Given the description of an element on the screen output the (x, y) to click on. 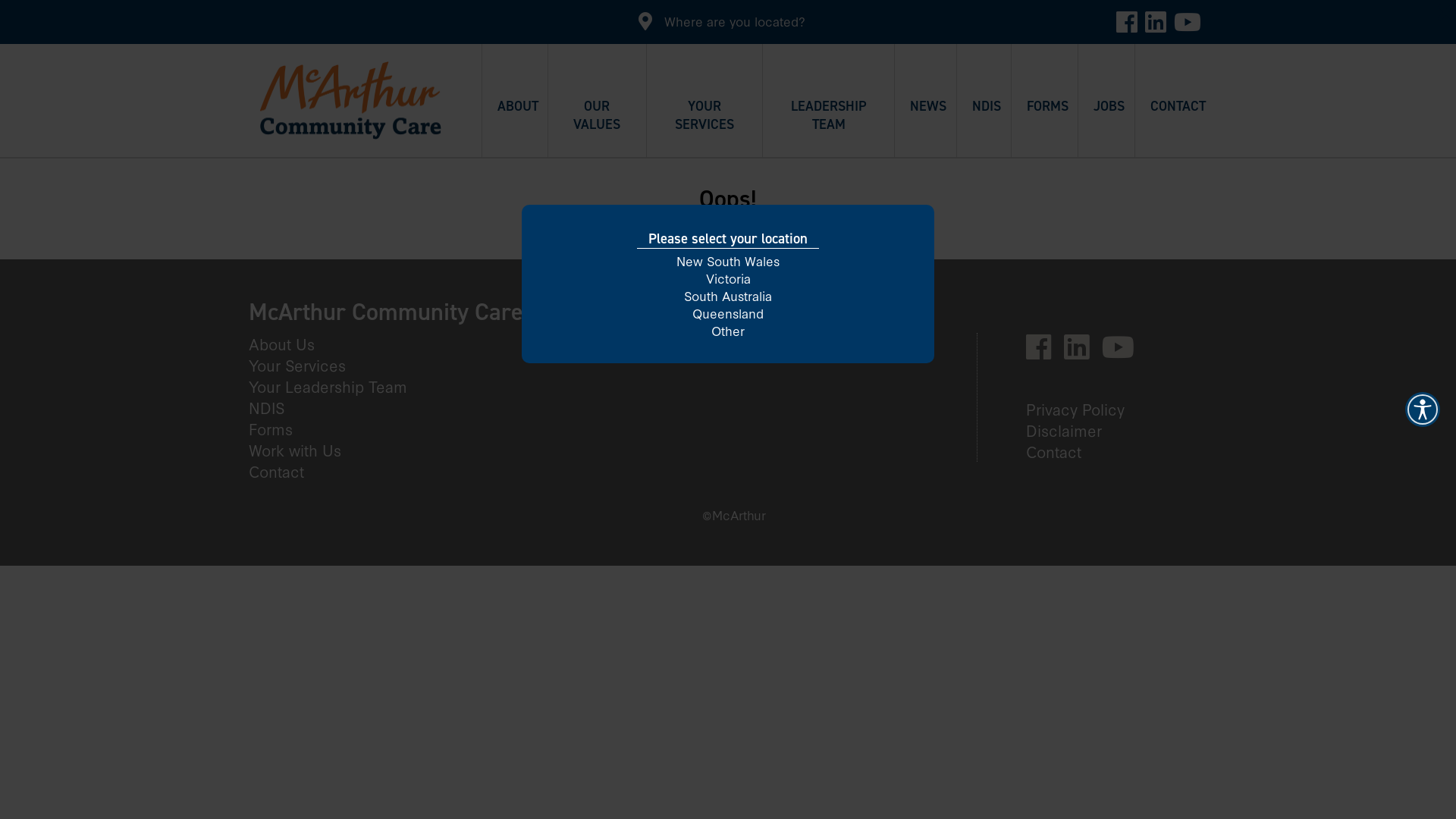
About Us Element type: text (287, 343)
Facebook Element type: hover (1044, 350)
ABOUT Element type: text (514, 126)
Disclaimer Element type: text (1069, 429)
Forms Element type: text (276, 428)
JOBS Element type: text (1106, 126)
Contact Element type: text (282, 470)
NDIS Element type: text (983, 126)
YouTube Element type: hover (1123, 350)
Your Services Element type: text (302, 364)
OUR VALUES Element type: text (597, 126)
Contact Element type: text (1059, 450)
YOUR SERVICES Element type: text (704, 126)
Privacy Policy Element type: text (1081, 408)
Work with Us Element type: text (300, 449)
LinkedIn Element type: hover (1082, 350)
NEWS Element type: text (924, 126)
CONTACT Element type: text (1174, 126)
LinkedIn Element type: hover (1155, 19)
FORMS Element type: text (1044, 126)
LEADERSHIP TEAM Element type: text (828, 126)
Your Leadership Team Element type: text (333, 385)
YouTube Element type: hover (1187, 19)
Facebook Element type: hover (1126, 19)
NDIS Element type: text (272, 406)
